Given the description of an element on the screen output the (x, y) to click on. 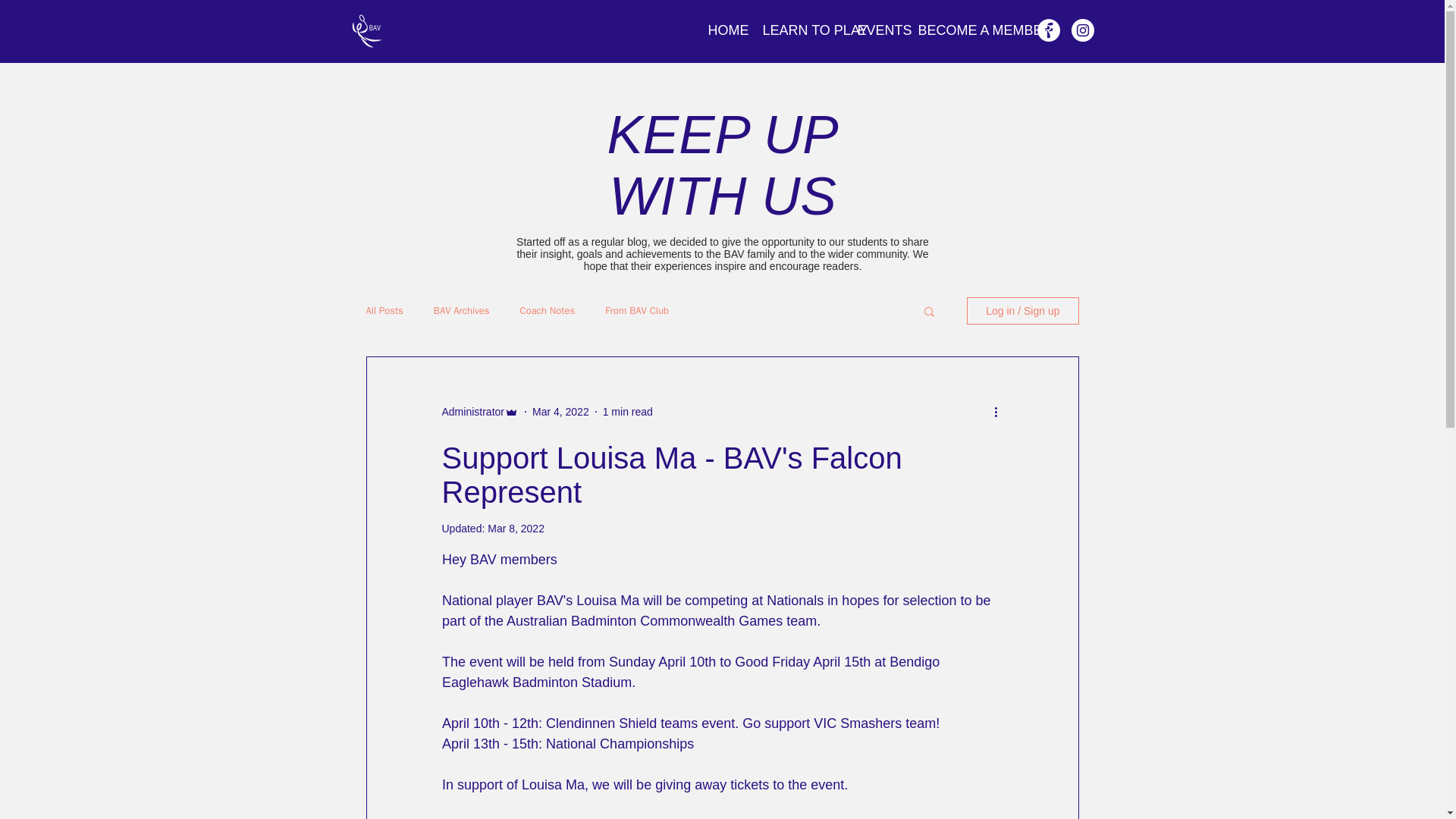
All Posts (384, 310)
BECOME A MEMBER (964, 30)
Mar 8, 2022 (515, 528)
Administrator  (472, 411)
Mar 4, 2022 (560, 410)
HOME (723, 30)
1 min read (627, 410)
Coach Notes (547, 310)
From BAV Club (636, 310)
BAV Archives (461, 310)
